Given the description of an element on the screen output the (x, y) to click on. 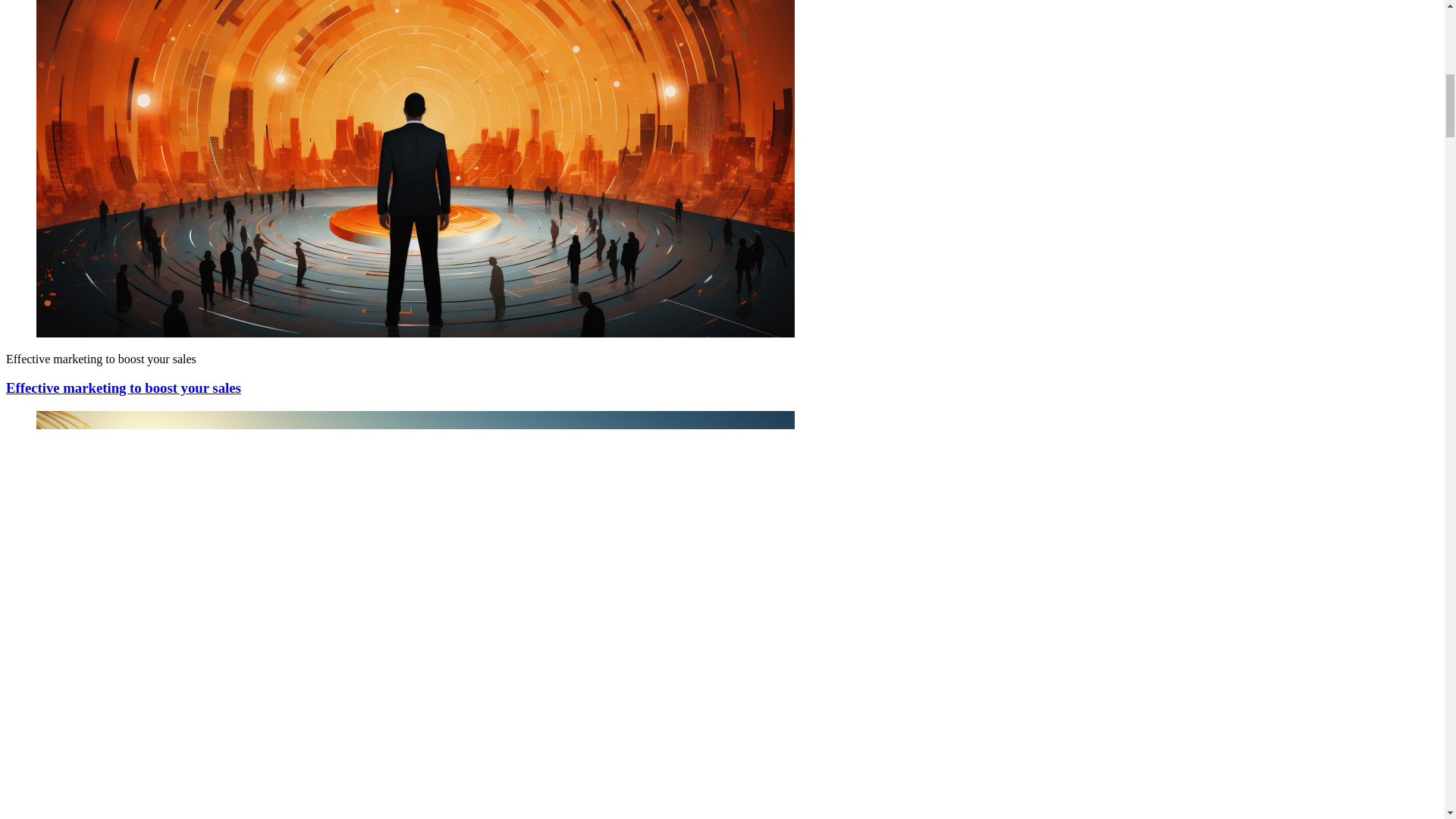
Effective marketing to boost your sales (415, 332)
Effective marketing to boost your sales (123, 387)
Effective marketing to boost your sales (123, 387)
